Given the description of an element on the screen output the (x, y) to click on. 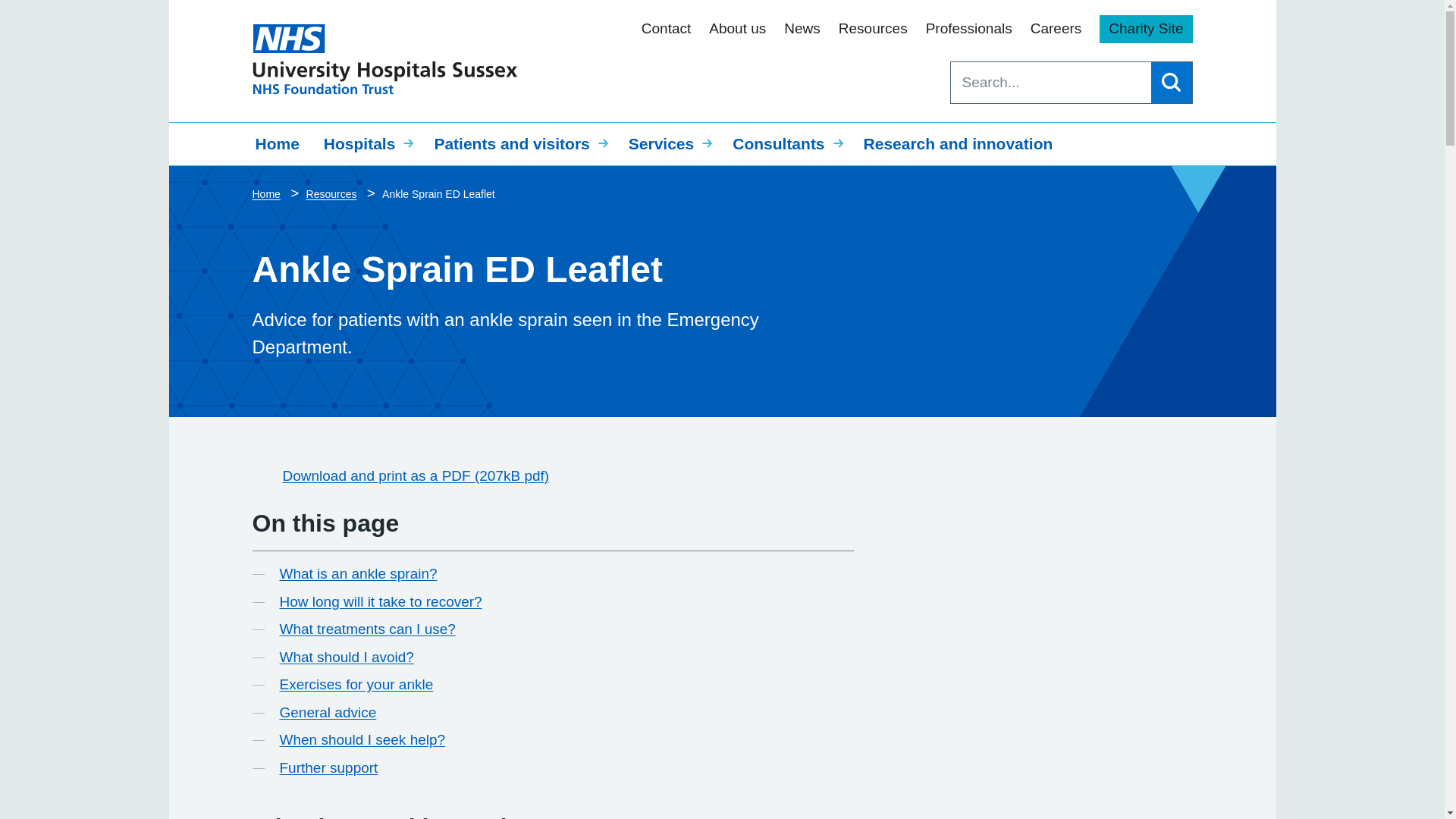
Home (277, 144)
Hospitals (366, 144)
Patients and visitors (518, 144)
University Hospitals Sussex NHS Foundation Trust Homepage (383, 59)
Contact (666, 29)
Charity Site (1145, 29)
Services (667, 144)
Resources (872, 29)
About us (737, 29)
Professionals (968, 29)
